Given the description of an element on the screen output the (x, y) to click on. 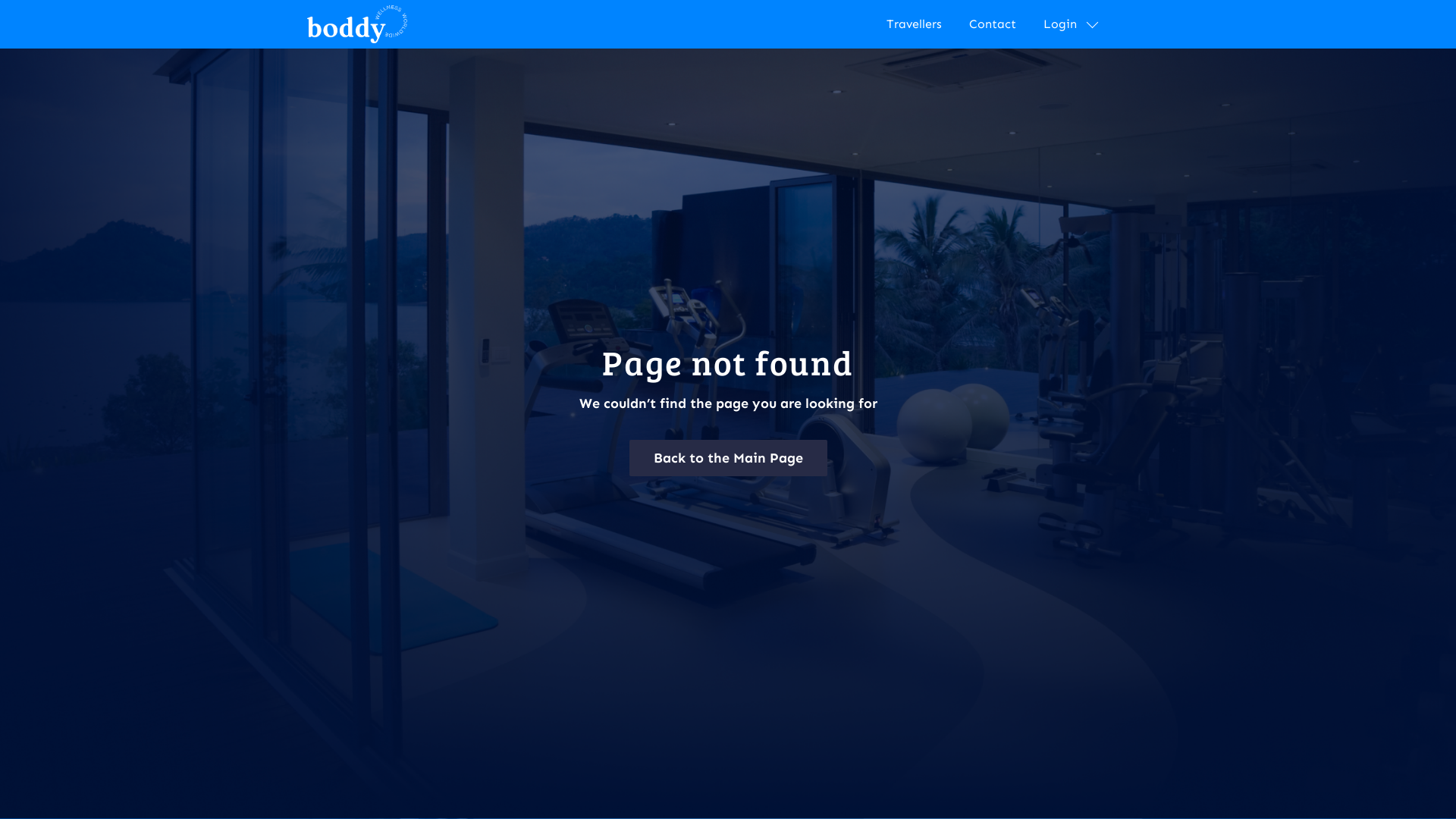
Back to the Main Page Element type: text (728, 457)
Contact Element type: text (992, 24)
Travellers Element type: text (913, 24)
